Given the description of an element on the screen output the (x, y) to click on. 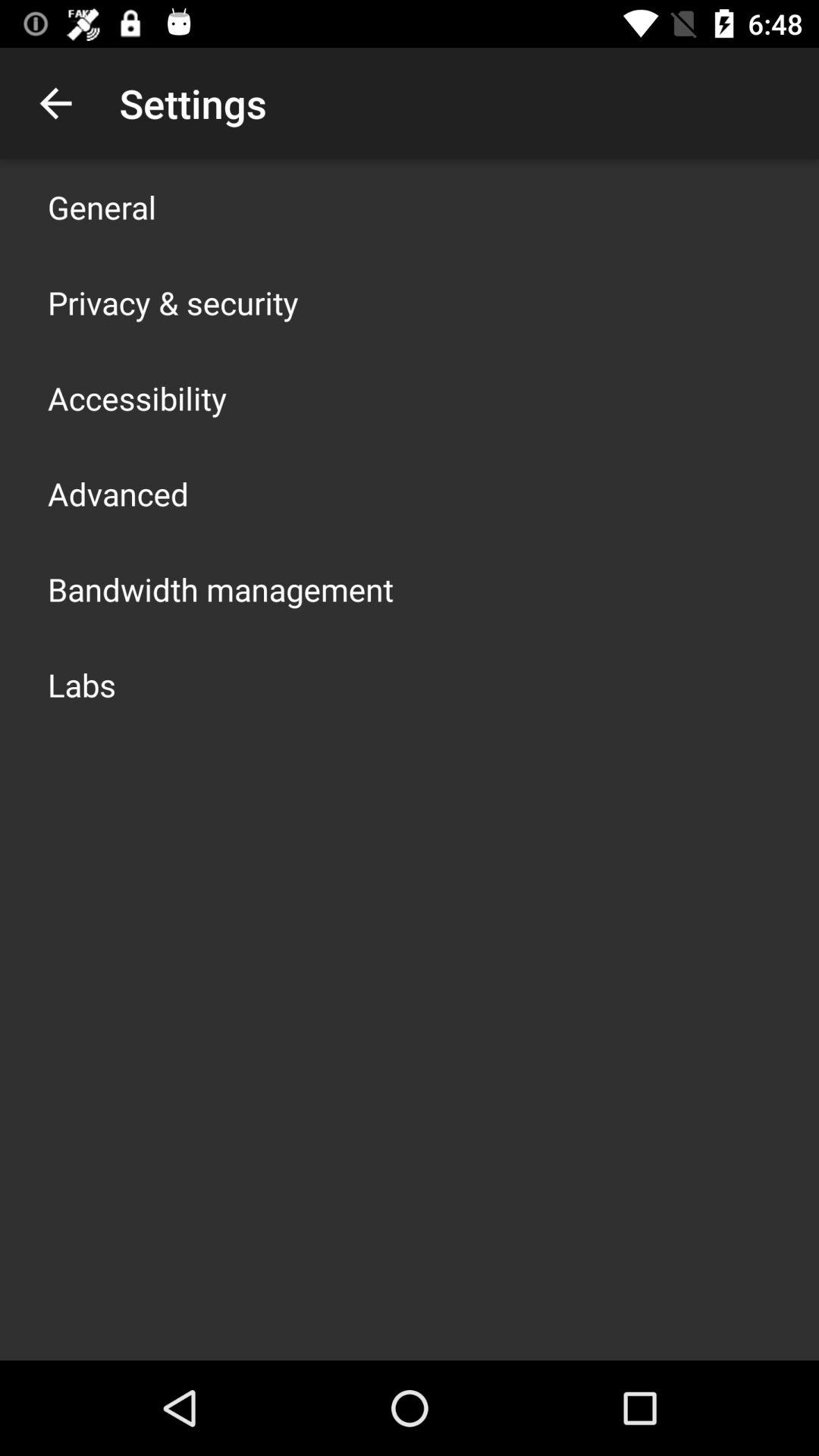
press app above privacy & security app (101, 206)
